Given the description of an element on the screen output the (x, y) to click on. 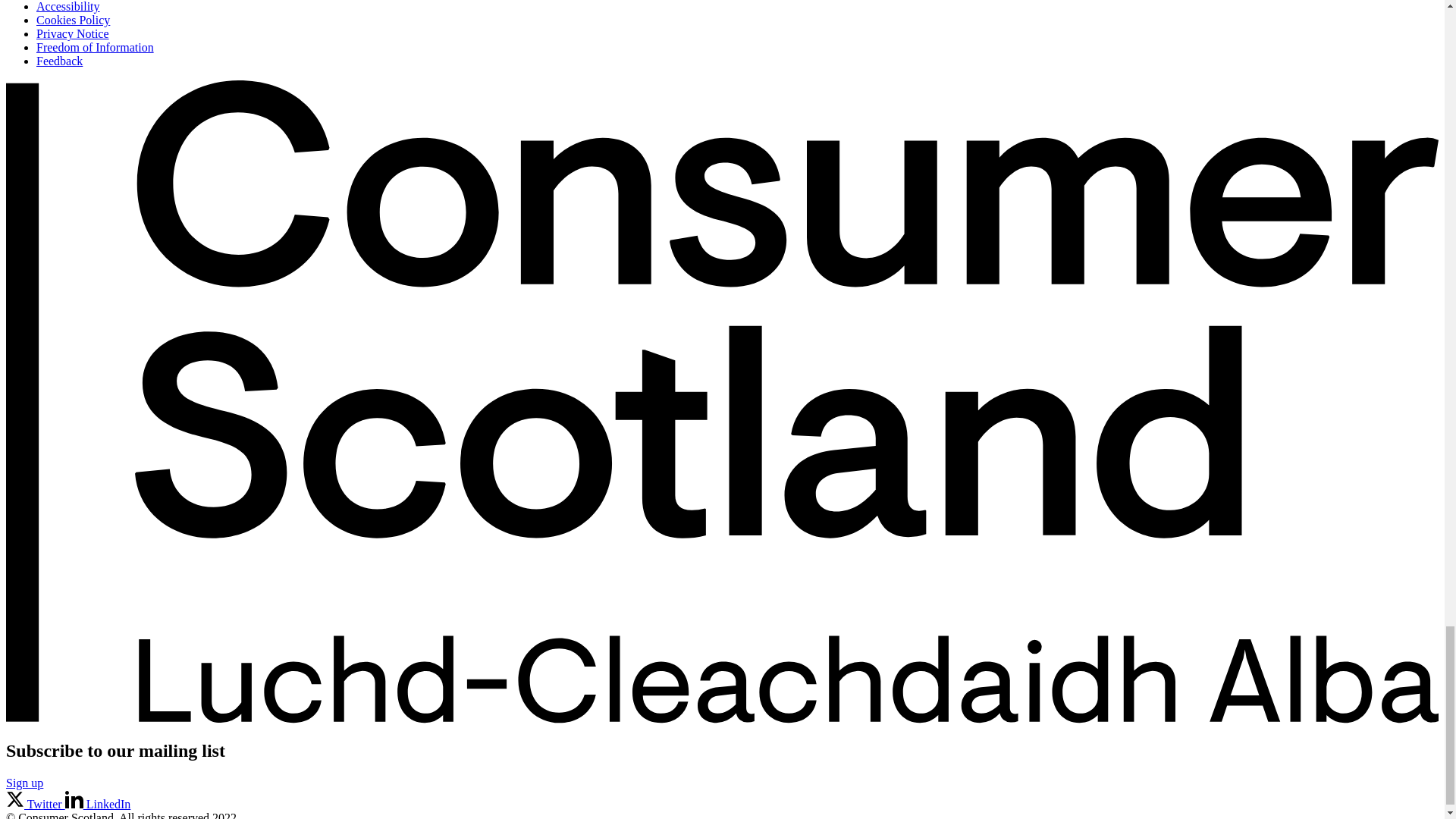
LinkedIn (98, 803)
Accessibility (68, 6)
Cookies Policy (73, 19)
Freedom of Information (95, 47)
Privacy Notice (72, 33)
Sign up (24, 782)
Feedback (59, 60)
Twitter (35, 803)
